Given the description of an element on the screen output the (x, y) to click on. 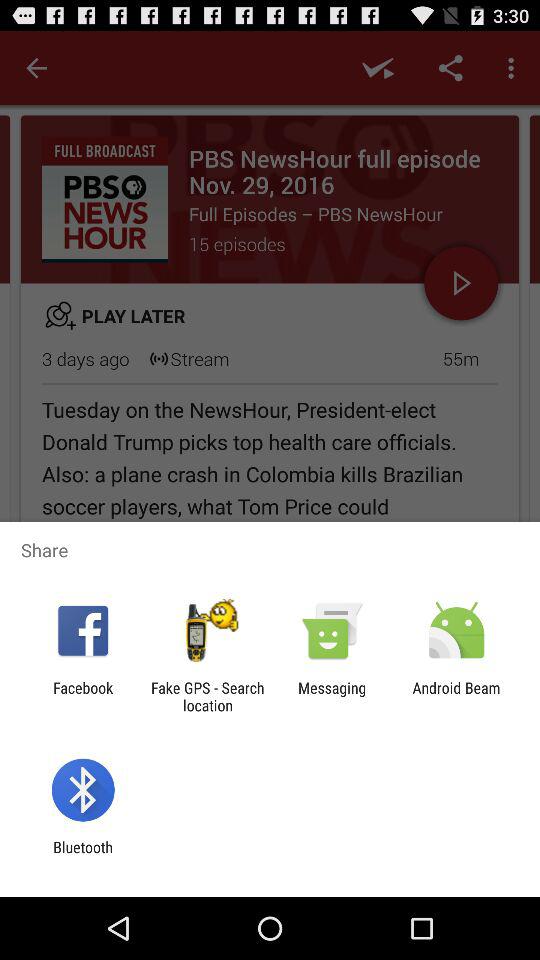
tap the item next to messaging app (456, 696)
